Given the description of an element on the screen output the (x, y) to click on. 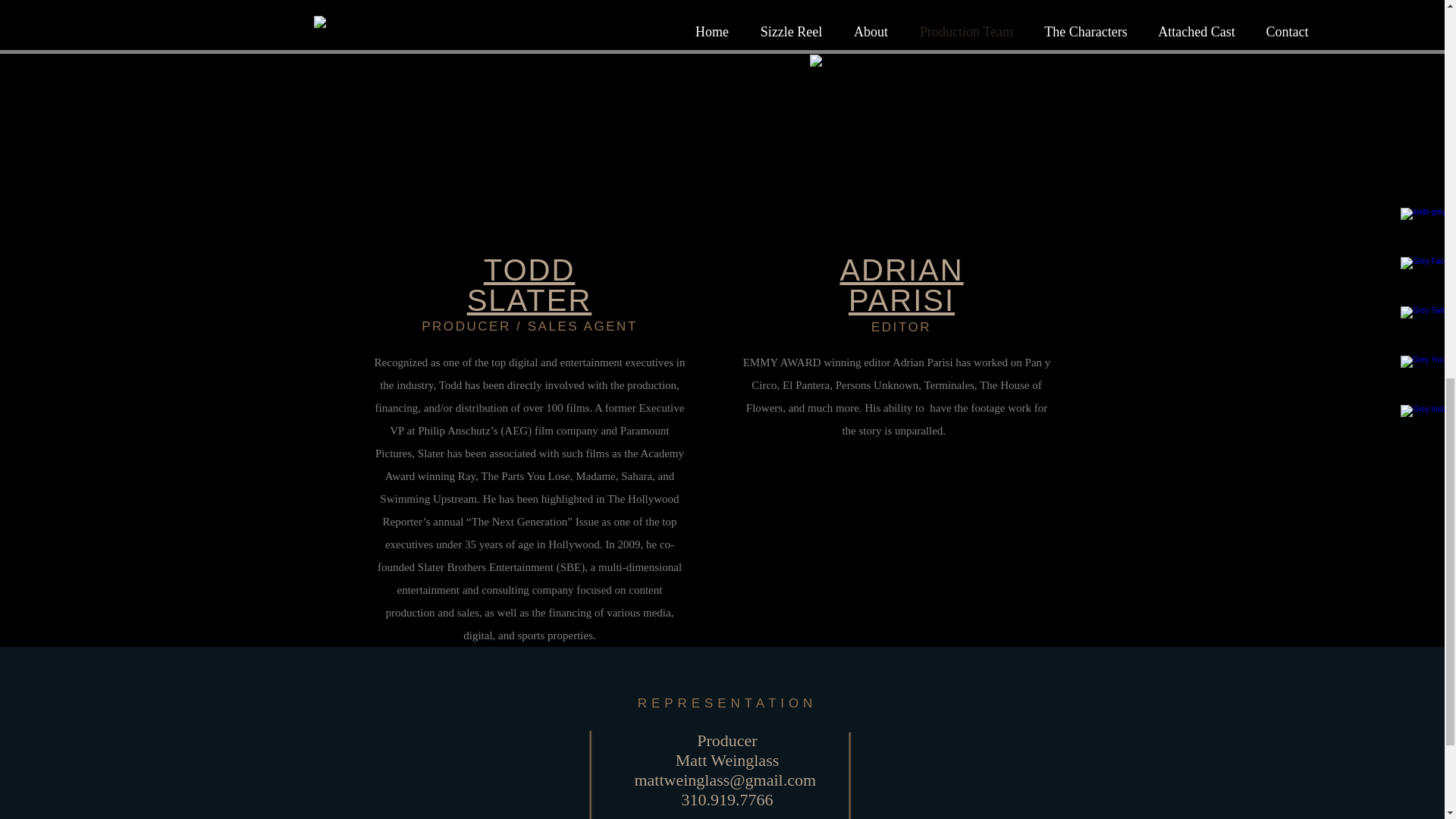
TODD SLATER (529, 284)
ADRIAN PARISI (901, 284)
Matt Weinglass (726, 760)
